Given the description of an element on the screen output the (x, y) to click on. 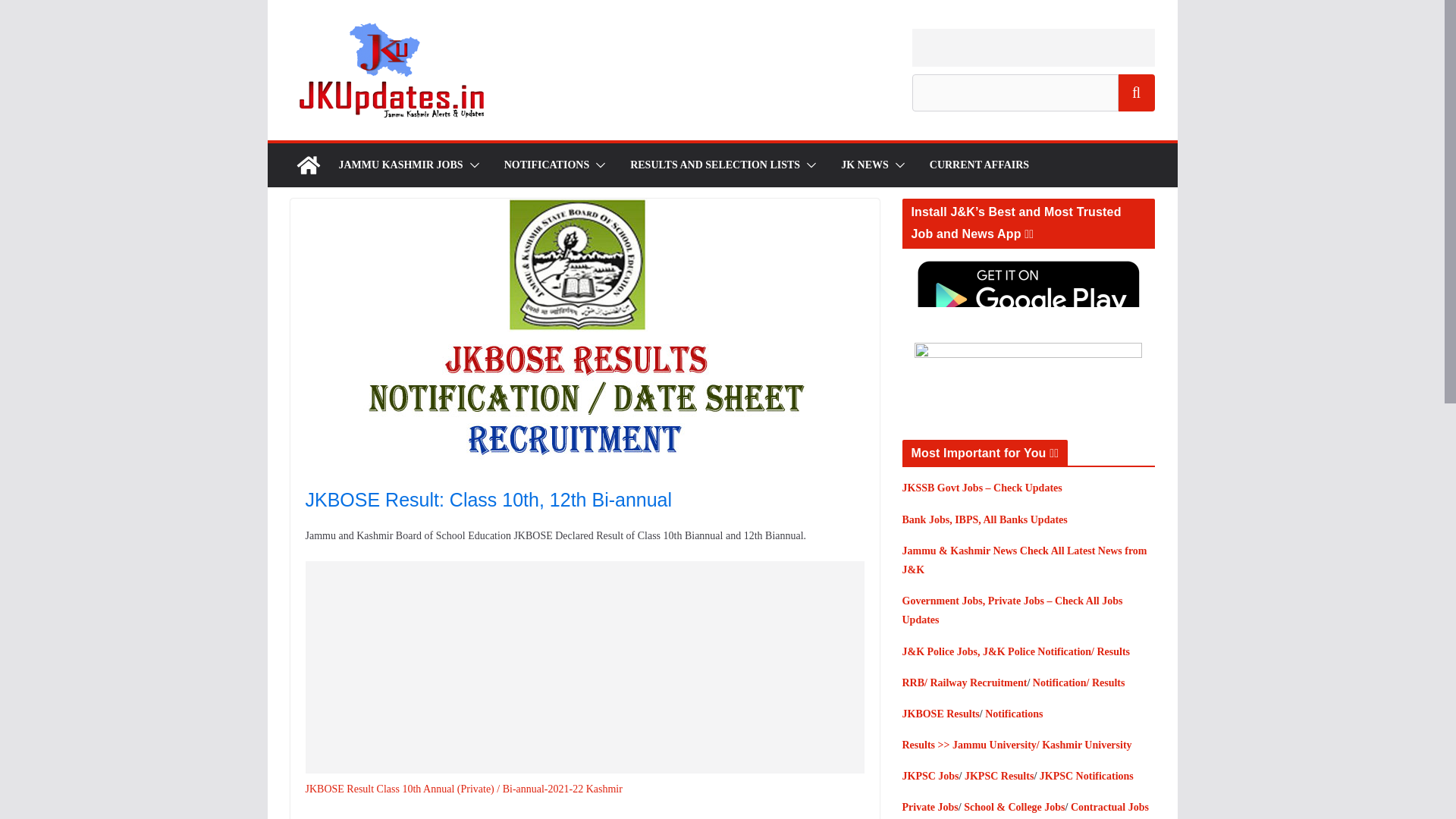
NOTIFICATIONS (546, 165)
Search (1136, 92)
Advertisement (595, 667)
JK NEWS (864, 165)
JAMMU KASHMIR JOBS (400, 165)
Advertisement (1032, 47)
RESULTS AND SELECTION LISTS (714, 165)
